Given the description of an element on the screen output the (x, y) to click on. 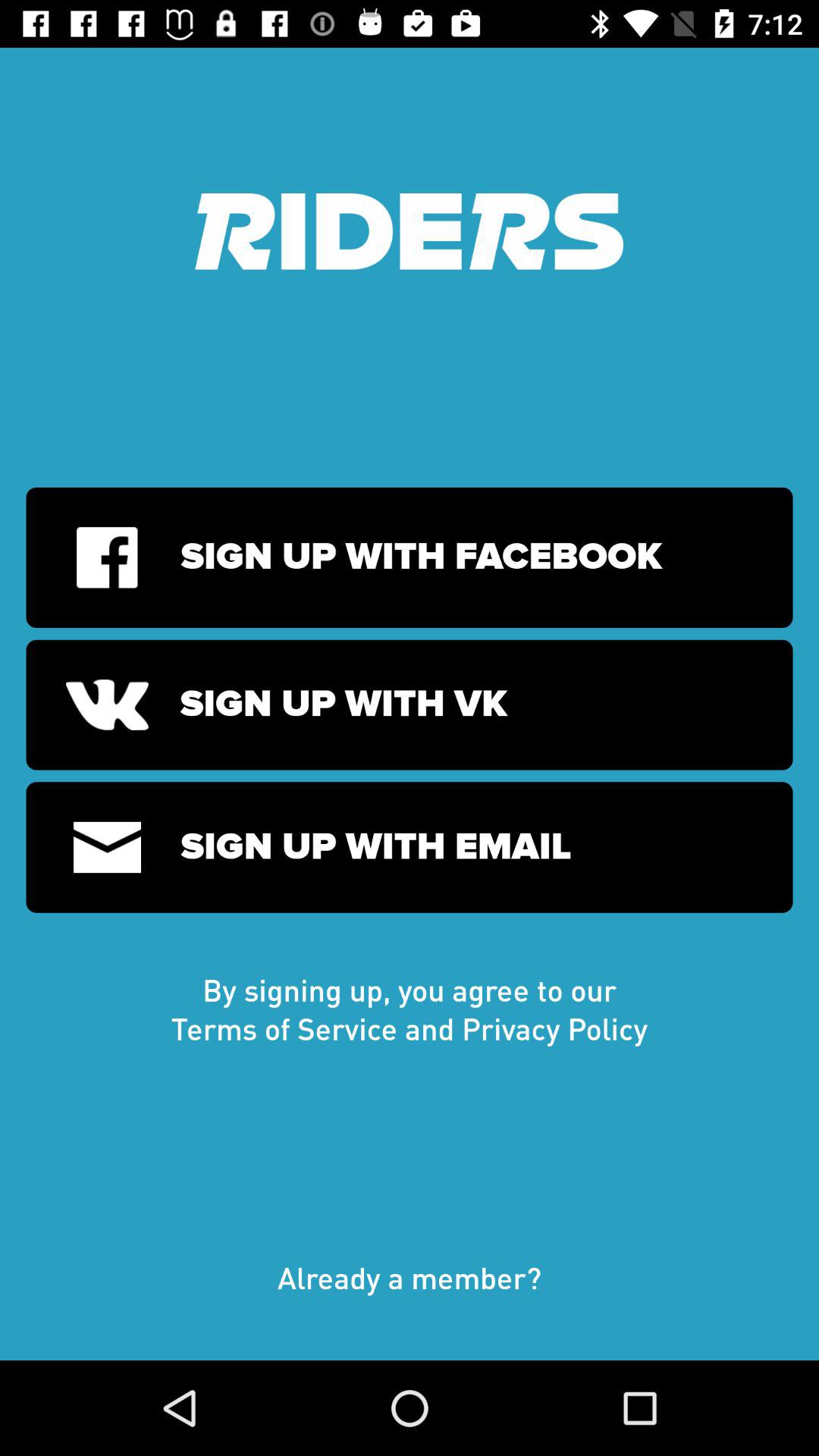
press the by signing up icon (409, 1008)
